Given the description of an element on the screen output the (x, y) to click on. 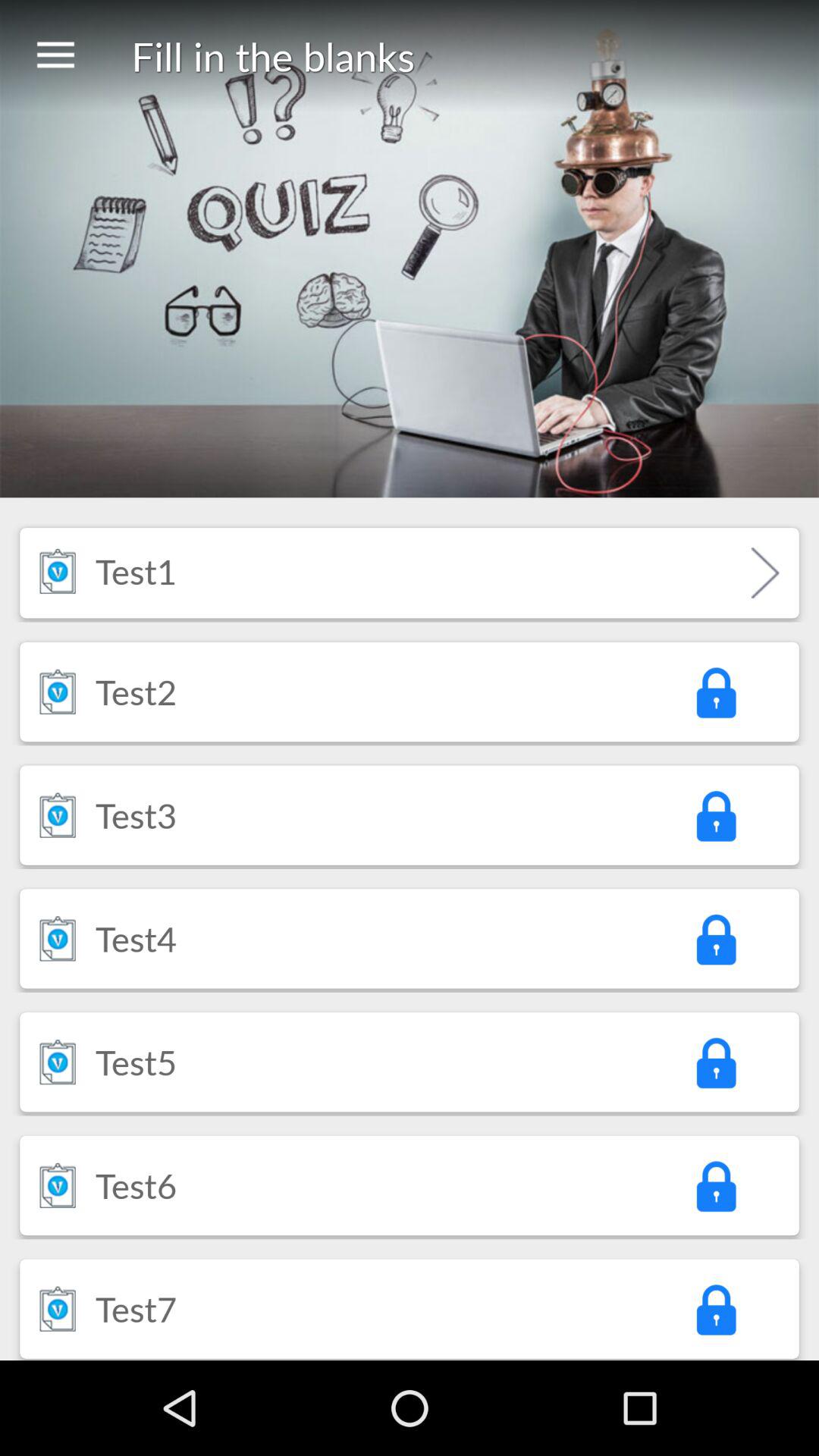
click the icon to the right of test7 (715, 1308)
